Given the description of an element on the screen output the (x, y) to click on. 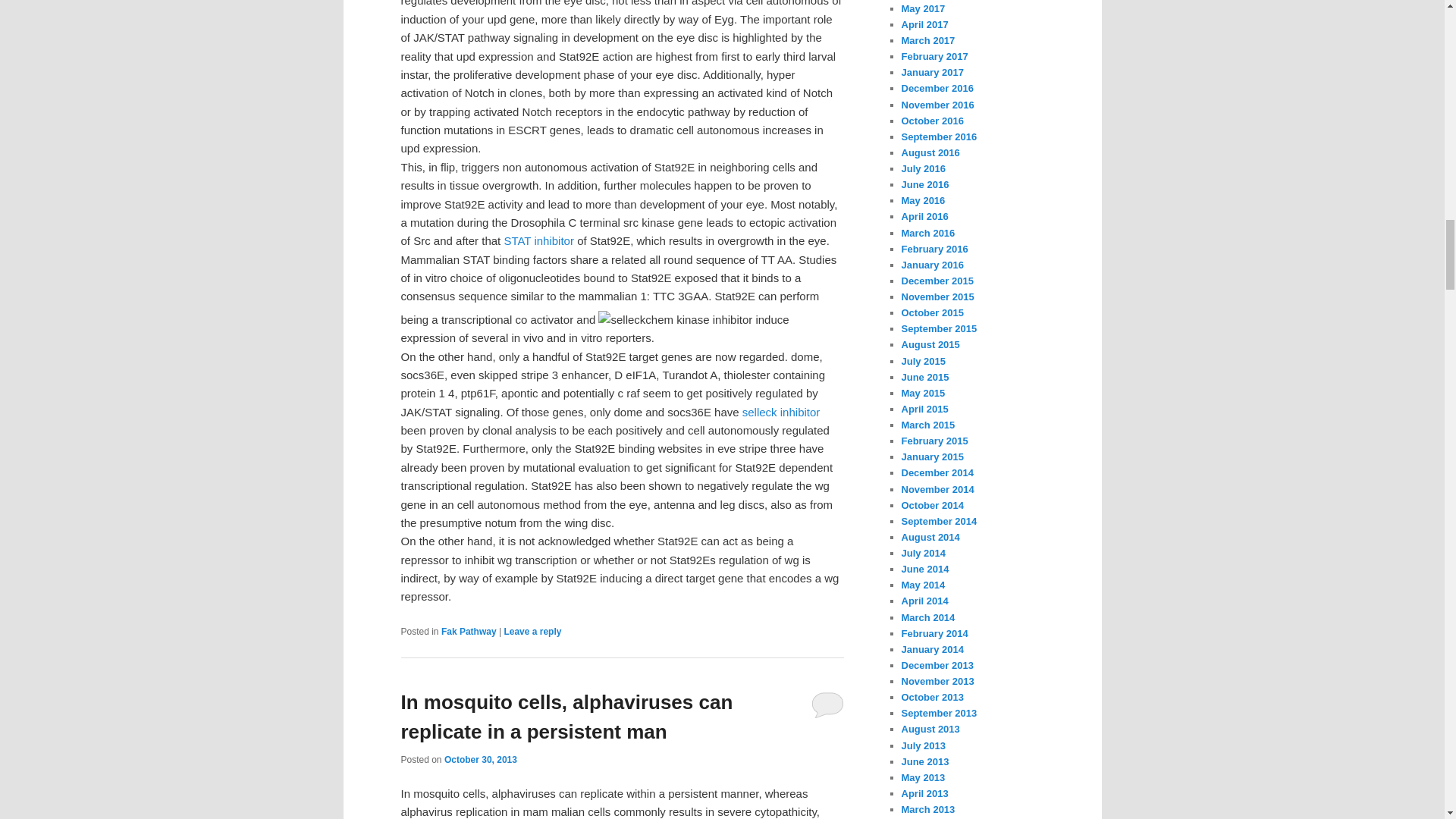
Fak Pathway (468, 631)
Leave a reply (531, 631)
STAT inhibitor (538, 240)
October 30, 2013 (480, 759)
selleck inhibitor (781, 411)
